Given the description of an element on the screen output the (x, y) to click on. 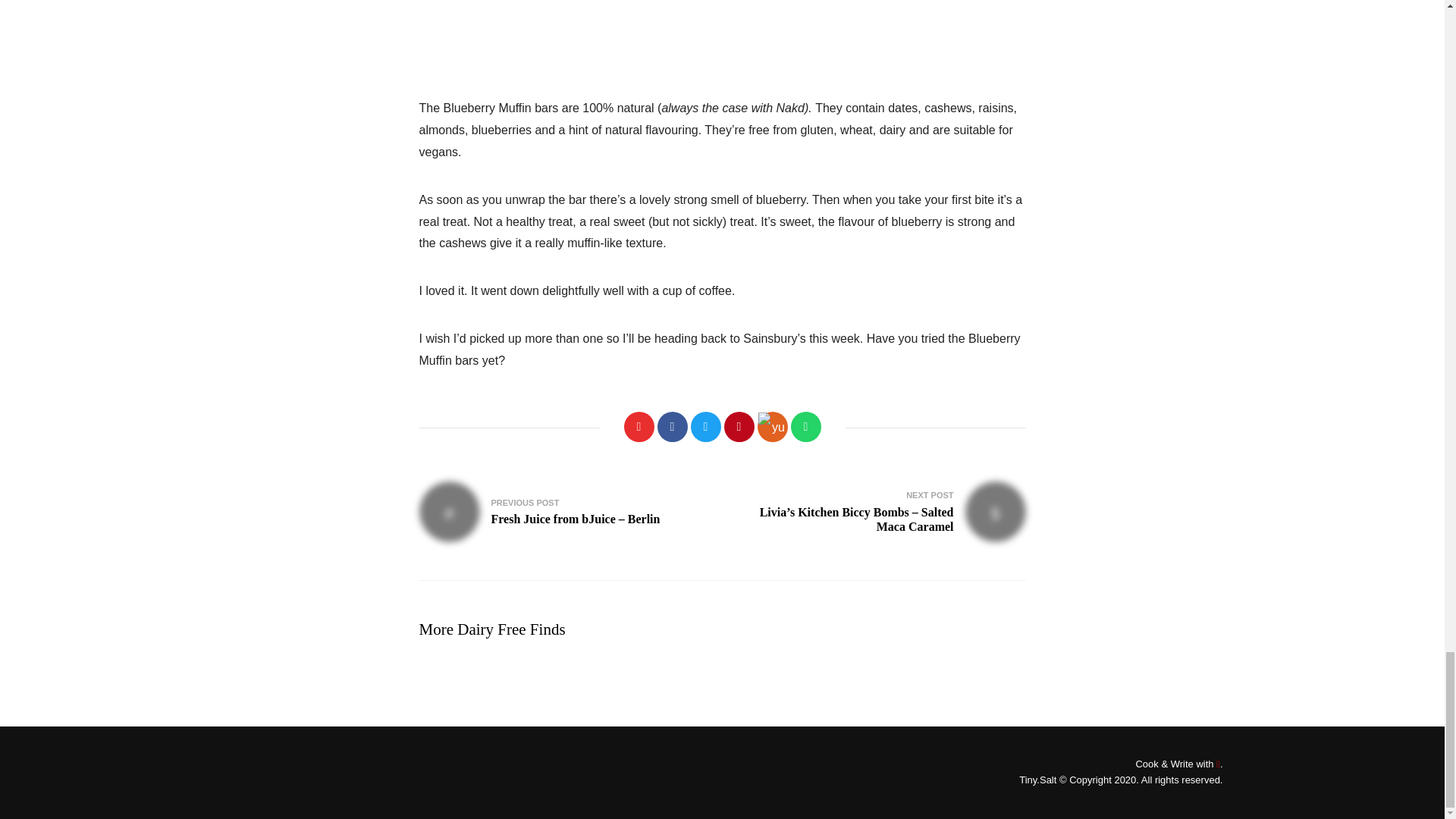
Like (638, 426)
Pinterest (738, 426)
Twitter (705, 426)
WhatsApp (805, 426)
Facebook (671, 426)
Yummly (772, 426)
